Given the description of an element on the screen output the (x, y) to click on. 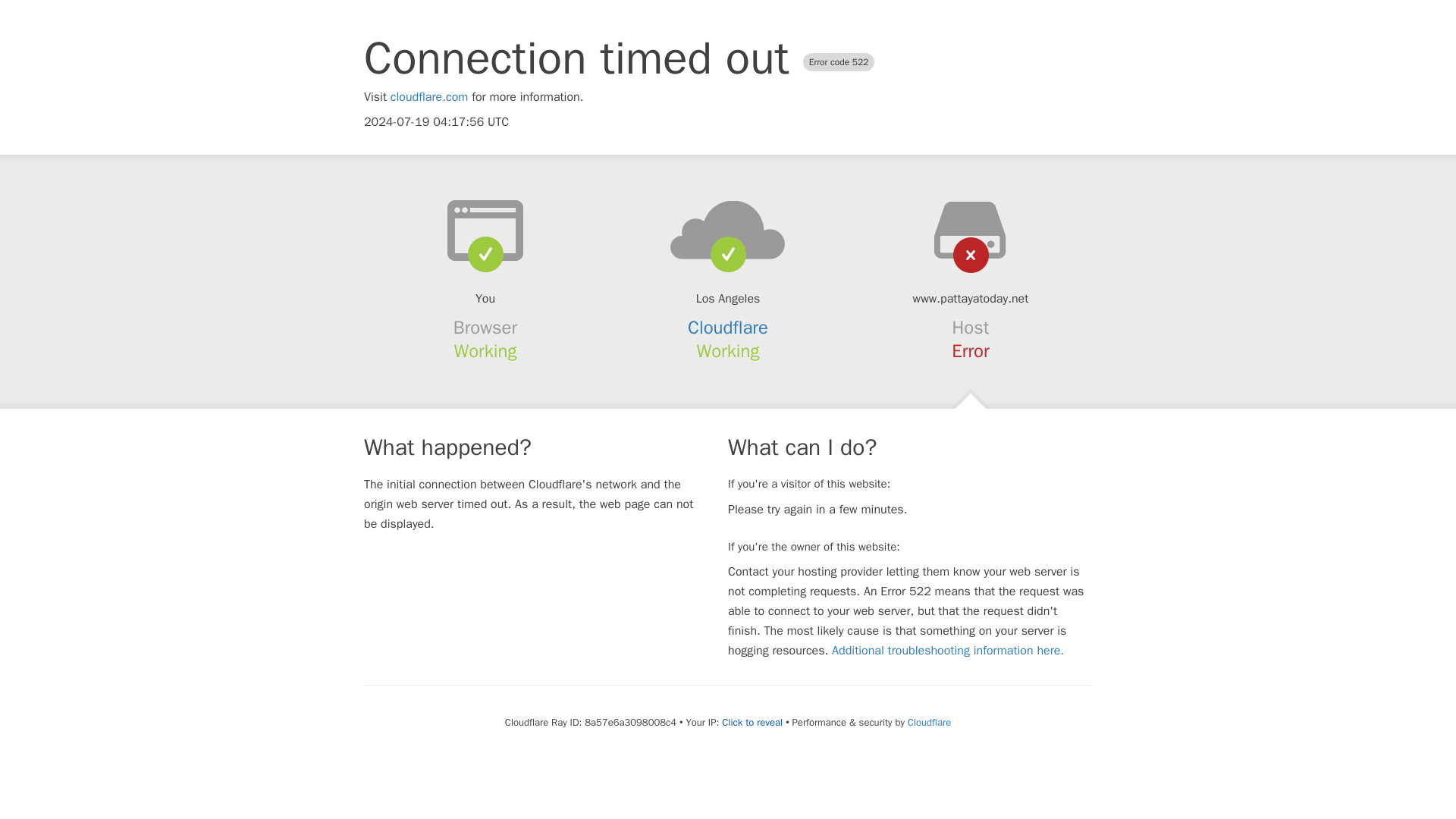
Cloudflare (727, 327)
Additional troubleshooting information here. (947, 650)
Cloudflare (928, 721)
Click to reveal (752, 722)
cloudflare.com (429, 96)
